Given the description of an element on the screen output the (x, y) to click on. 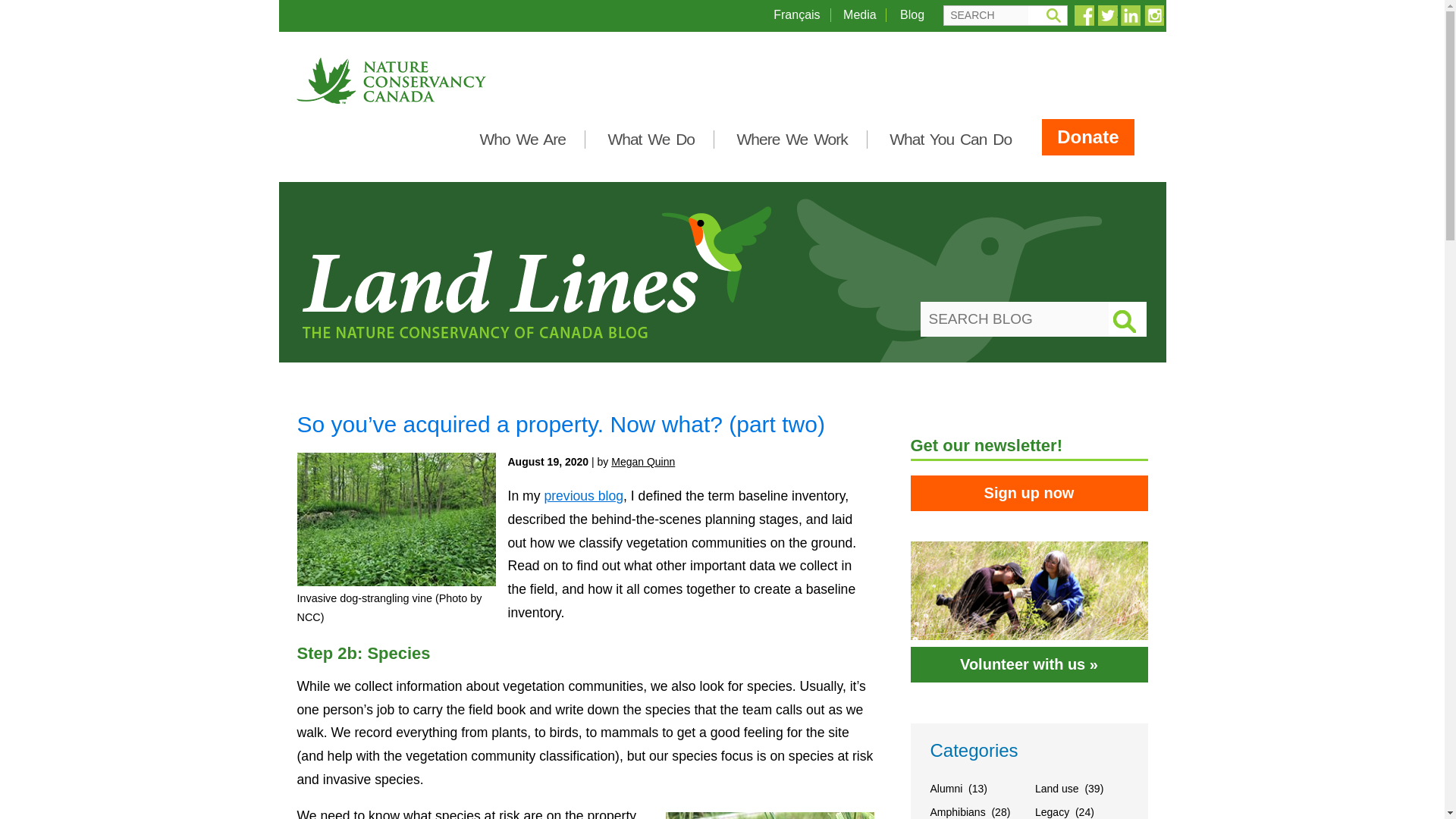
Instagram (1152, 14)
Twitter (1107, 14)
LinkedIn (1130, 14)
What We Do (650, 139)
Facebook (1084, 14)
Who We Are (522, 139)
Go (1053, 15)
Go (1053, 15)
Media (859, 14)
Blog (911, 14)
Where We Work (791, 139)
